Given the description of an element on the screen output the (x, y) to click on. 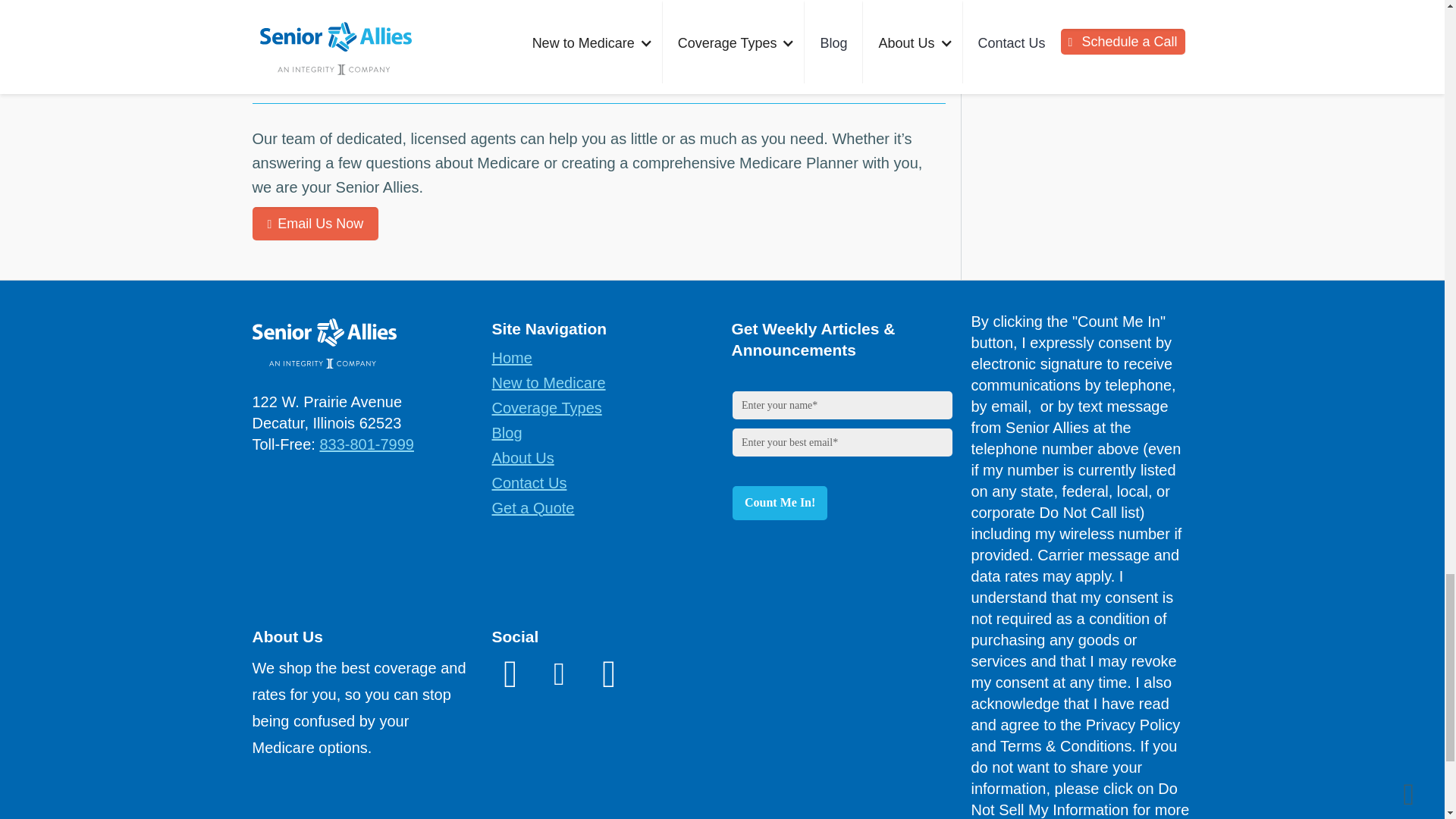
Select a Day and Time Now (362, 7)
Email Us Now (314, 223)
Senior Allies Newsletter Signup Footer (841, 459)
